Given the description of an element on the screen output the (x, y) to click on. 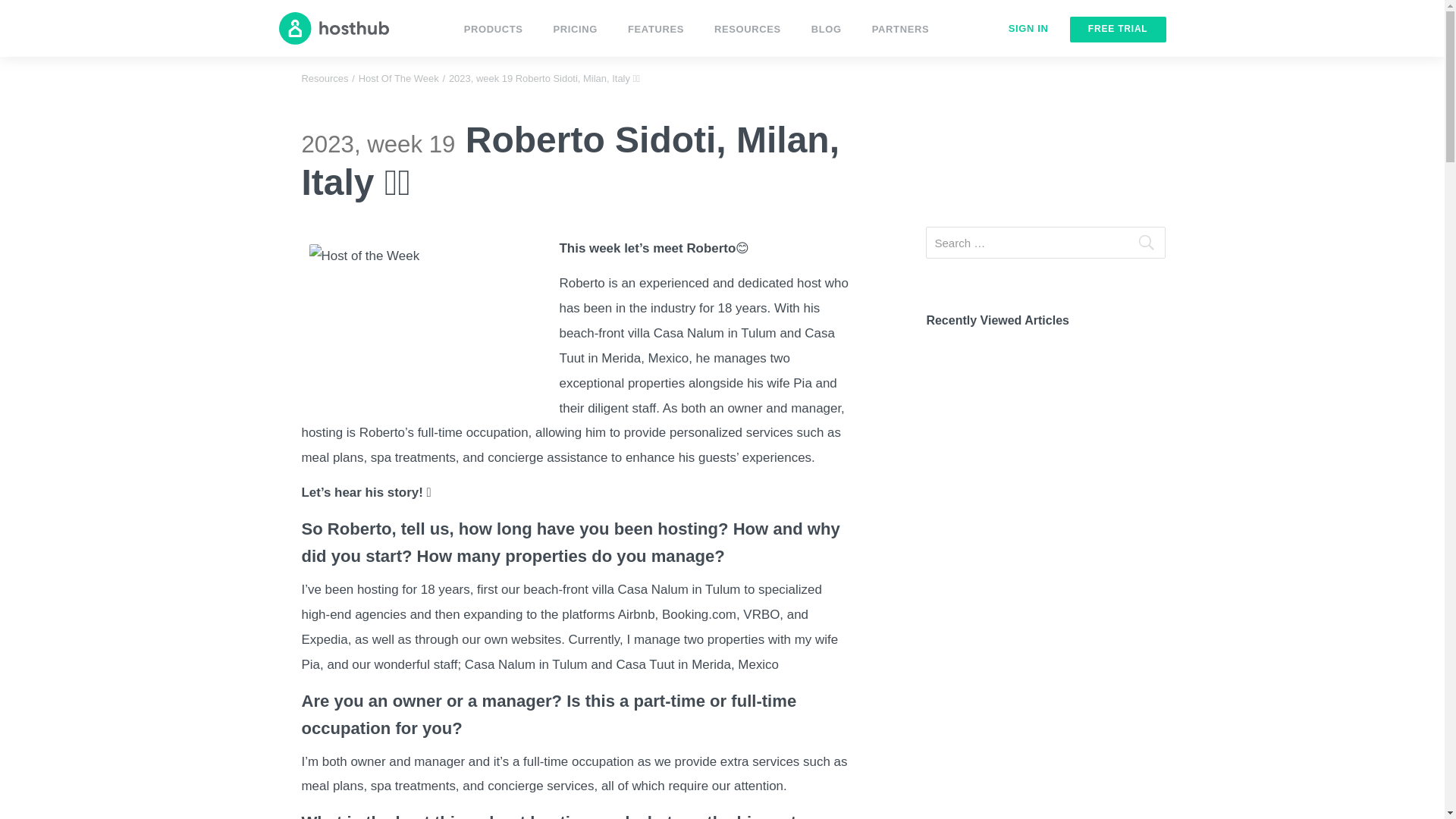
SIGN IN (1028, 29)
PRICING (574, 31)
Resources (325, 78)
FREE TRIAL (1118, 28)
PARTNERS (900, 31)
Search for: (1046, 242)
Host Of The Week (398, 78)
BLOG (825, 31)
